Given the description of an element on the screen output the (x, y) to click on. 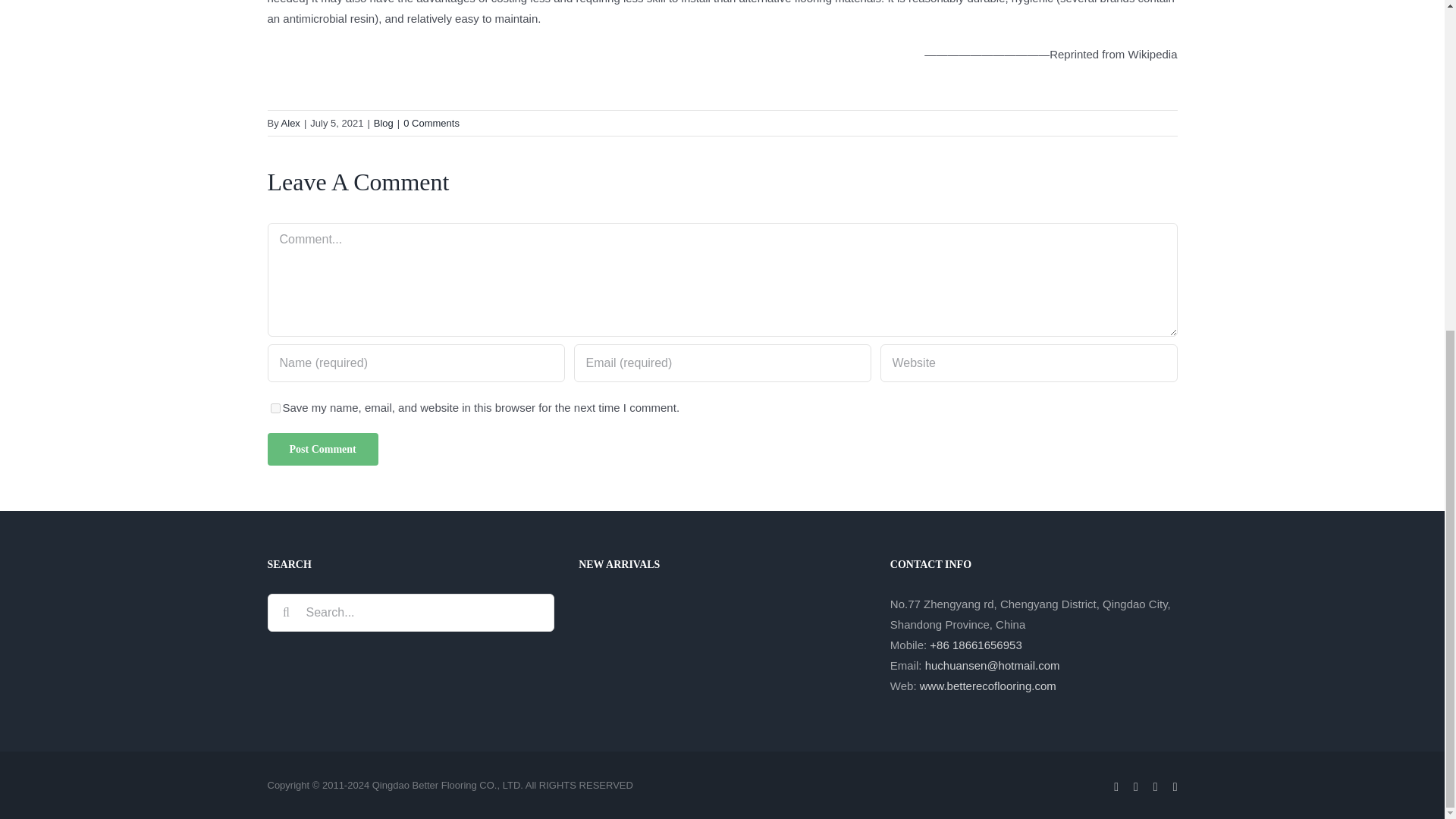
Wood SPC Flooring (604, 620)
Choice Oak Luxury Vinyl Plank Flooring (659, 620)
Posts by Alex (290, 122)
Scratch Stone Luxury Vinyl Plank Flooring (771, 620)
Post Comment (321, 449)
Shadow Hickory Luxury Vinyl Plank Flooring (826, 620)
0 Comments (431, 122)
Blog (383, 122)
Post Comment (321, 449)
yes (274, 408)
Heirloom Pine Luxury Vinyl Plank Flooring (604, 675)
Dark Walnut Luxury Vinyl Plank Flooring (716, 620)
Alex (290, 122)
